Given the description of an element on the screen output the (x, y) to click on. 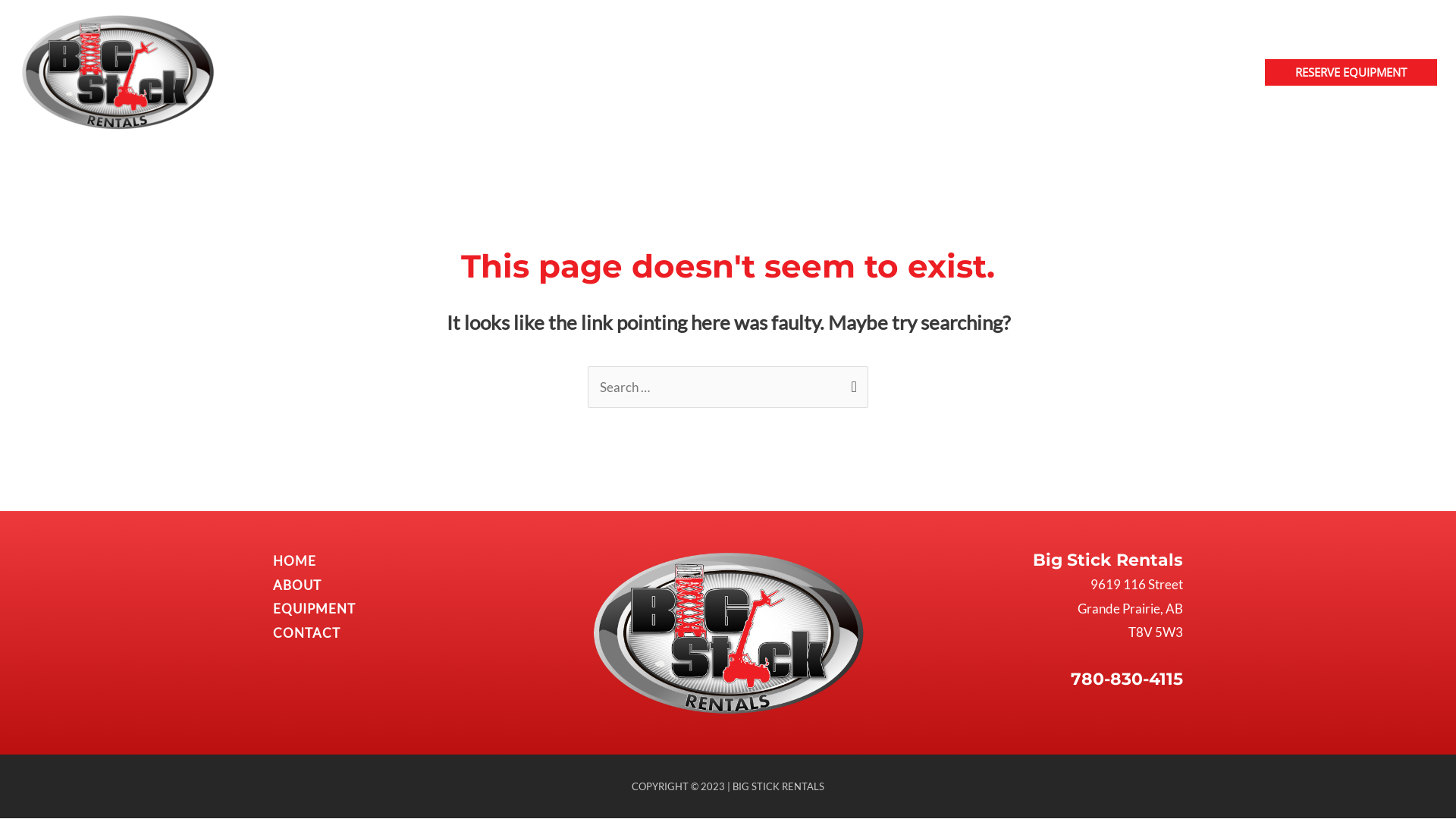
HOME Element type: text (294, 560)
HOME Element type: text (974, 71)
ABOUT Element type: text (1038, 71)
RESERVE EQUIPMENT Element type: text (1350, 72)
Search Element type: text (851, 382)
EQUIPMENT Element type: text (314, 608)
EQUIPMENT Element type: text (1119, 71)
CONTACT Element type: text (306, 632)
ABOUT Element type: text (297, 585)
CONTACT Element type: text (1208, 71)
